Given the description of an element on the screen output the (x, y) to click on. 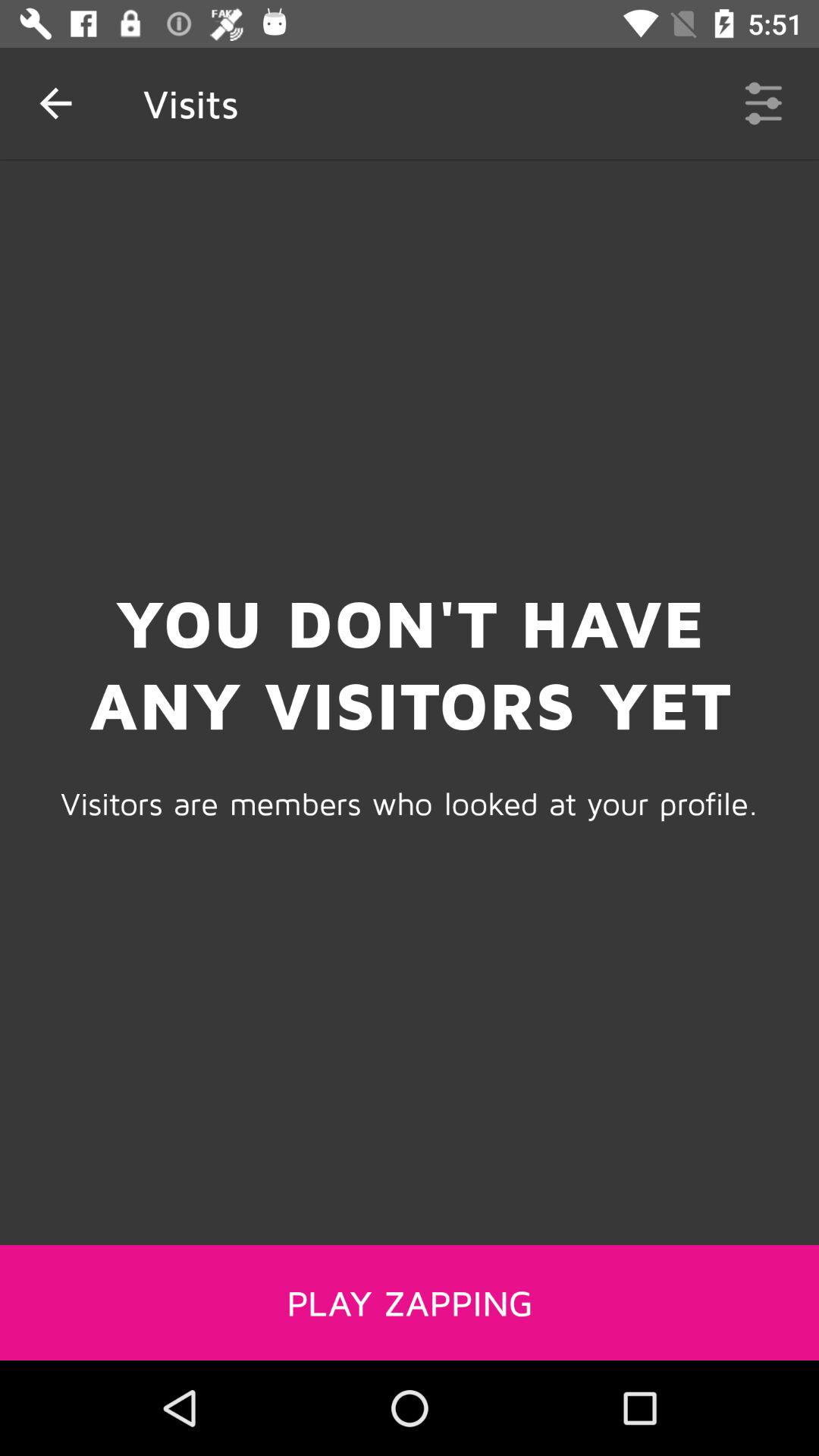
choose the item above you don t item (55, 103)
